Given the description of an element on the screen output the (x, y) to click on. 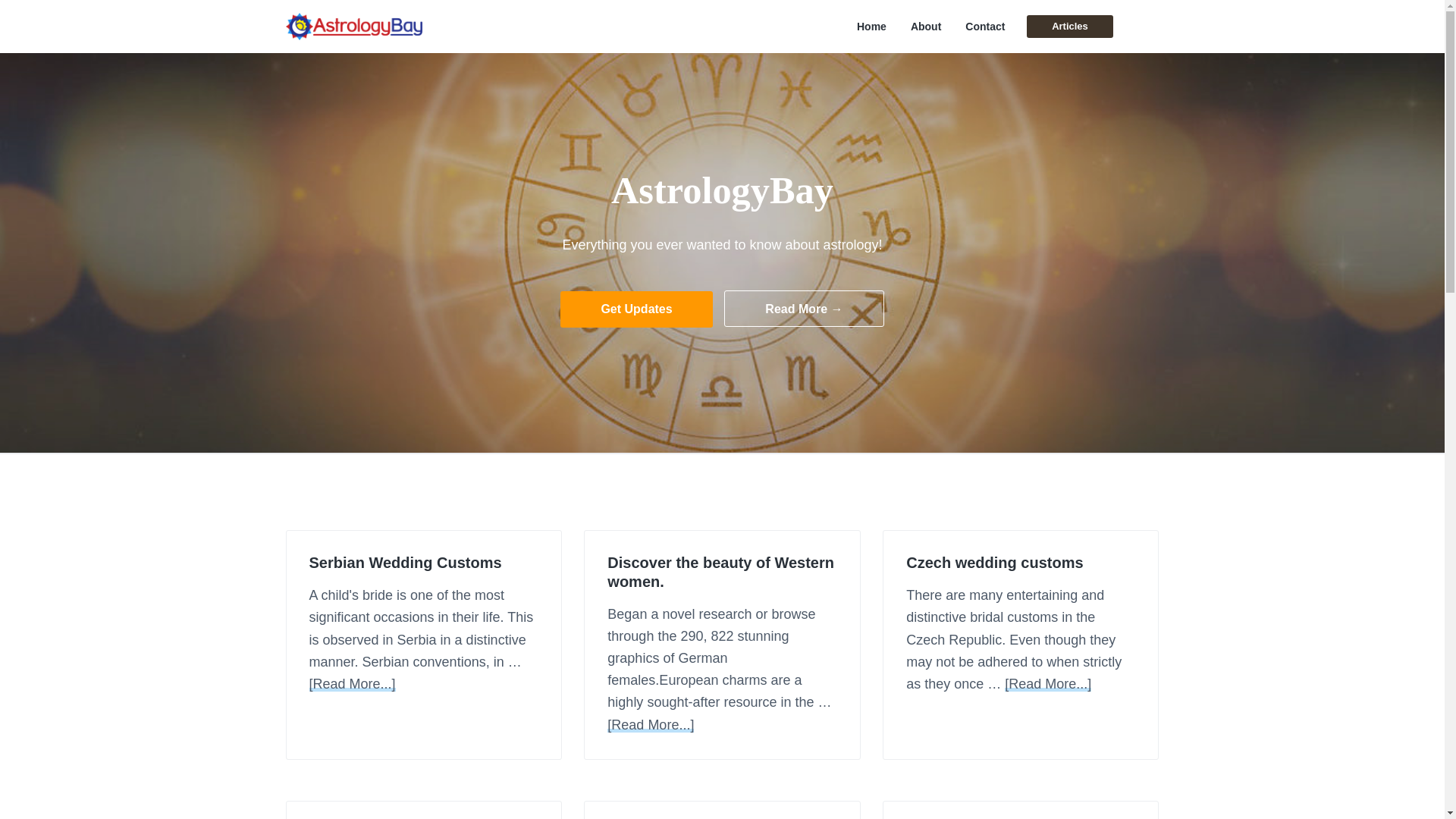
About (925, 27)
Serbian Wedding Customs (423, 562)
Home (871, 27)
Contact (984, 27)
Search (60, 18)
Articles (1068, 25)
Get Updates (636, 309)
Discover the beauty of Western women. (721, 571)
Czech wedding customs (1020, 562)
